Given the description of an element on the screen output the (x, y) to click on. 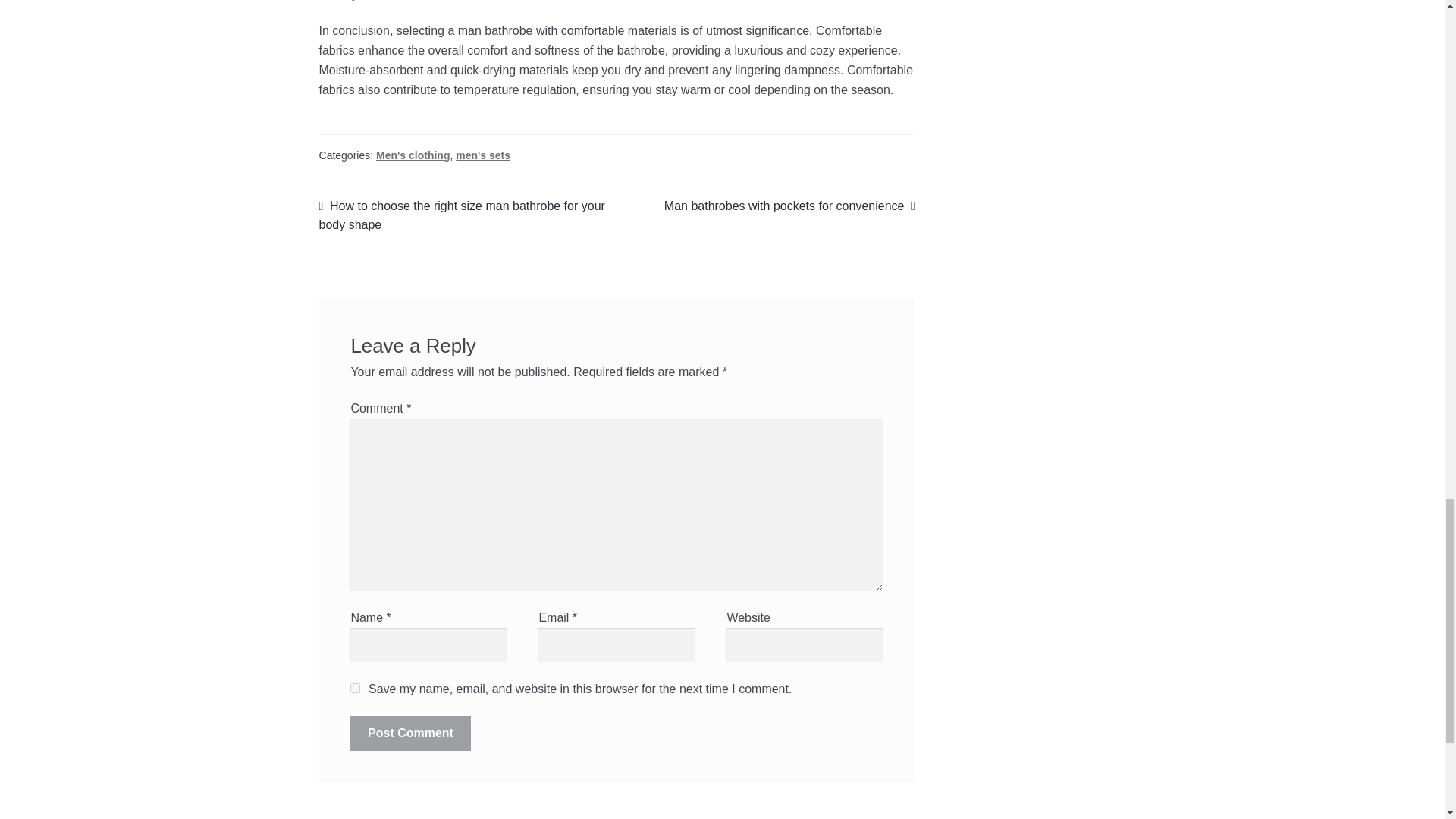
Post Comment (410, 733)
Post Comment (789, 206)
yes (410, 733)
men's sets (354, 687)
Men's clothing (483, 155)
